Given the description of an element on the screen output the (x, y) to click on. 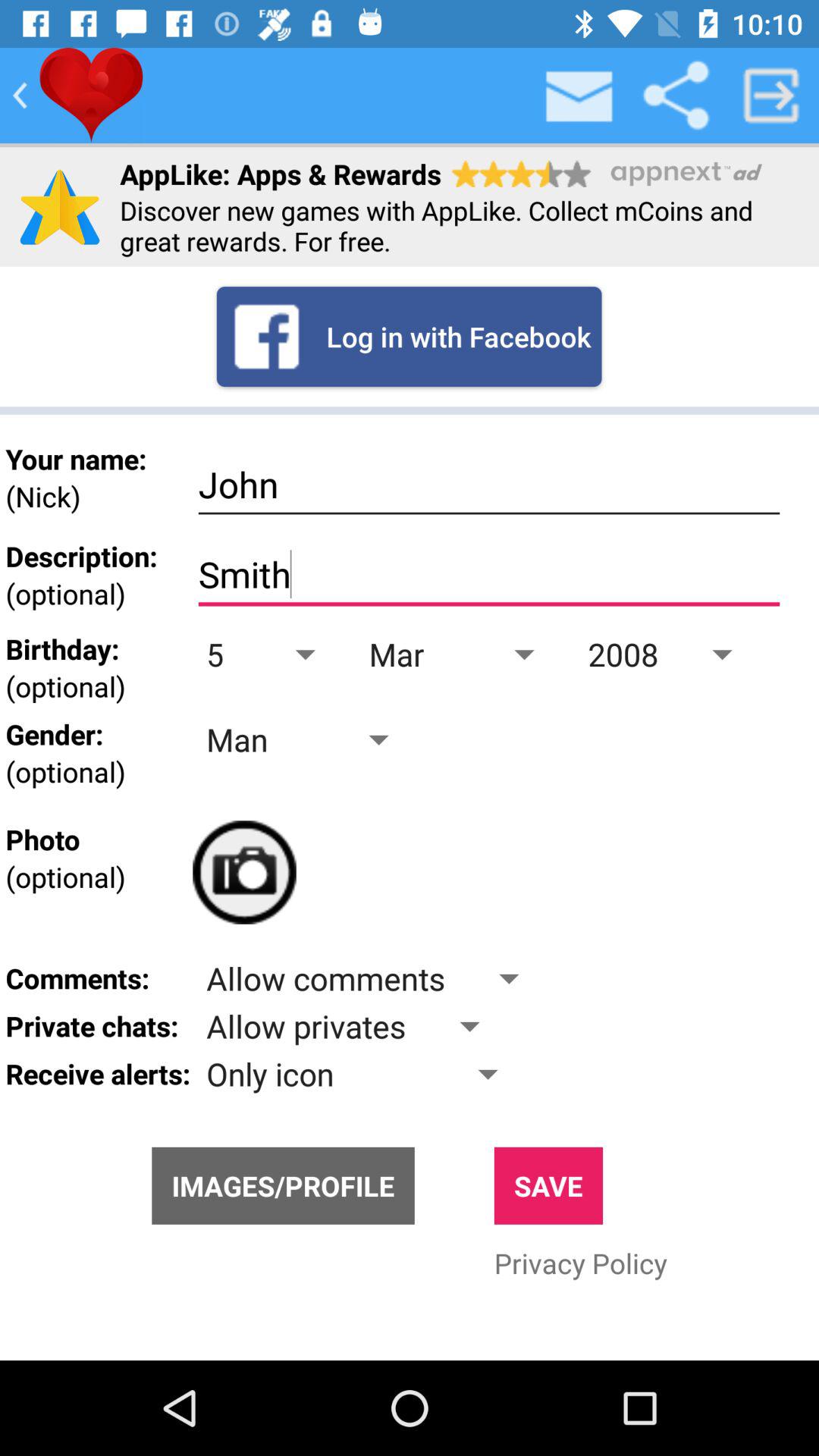
share (675, 95)
